Given the description of an element on the screen output the (x, y) to click on. 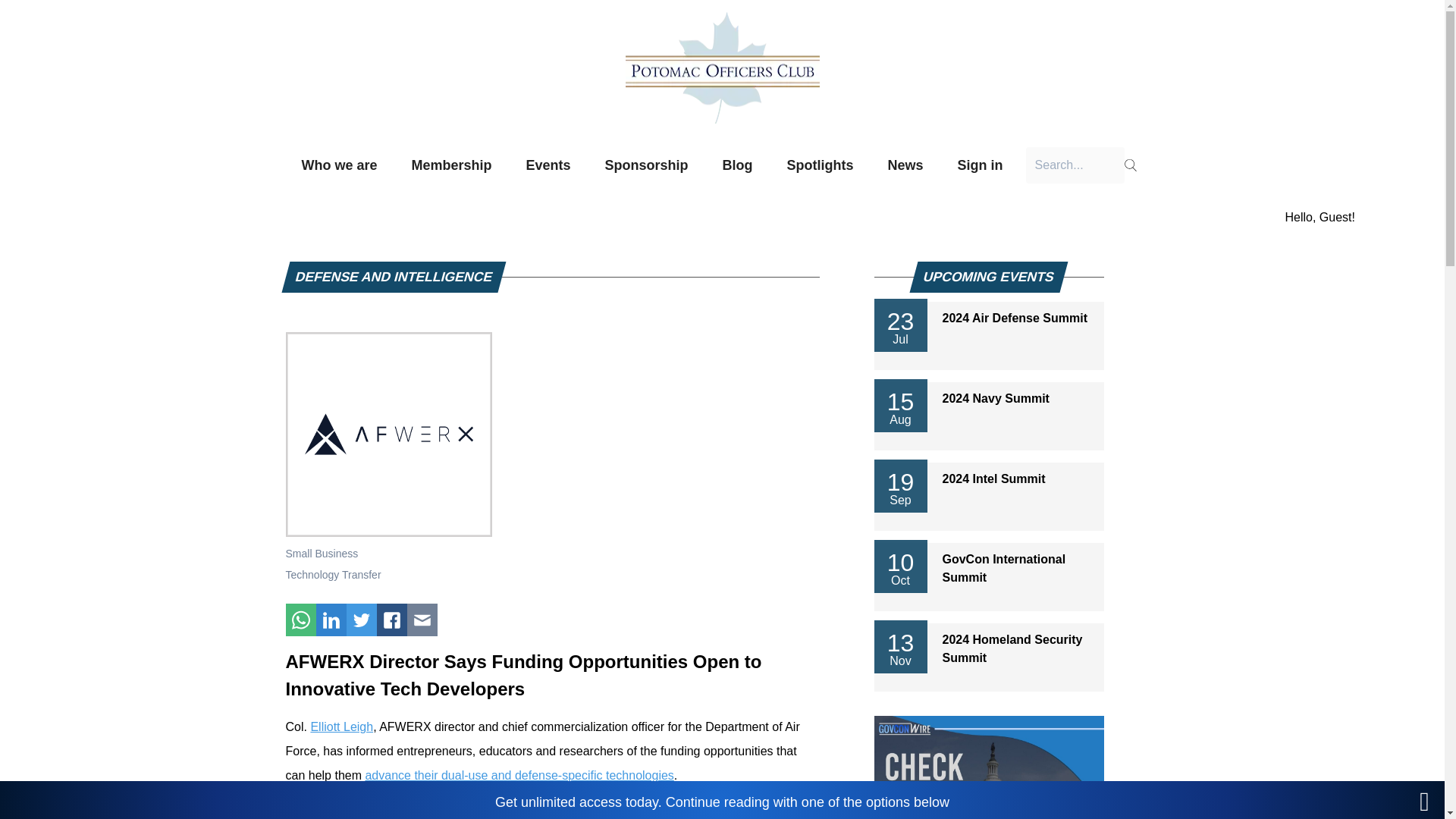
News (905, 164)
Sponsorship (647, 164)
Who we are (338, 164)
Blog (737, 164)
Spotlights (820, 164)
Membership (450, 164)
Events (546, 164)
Elliott Leigh (341, 726)
advance their dual-use and defense-specific technologies (518, 775)
Sign in (980, 164)
